Given the description of an element on the screen output the (x, y) to click on. 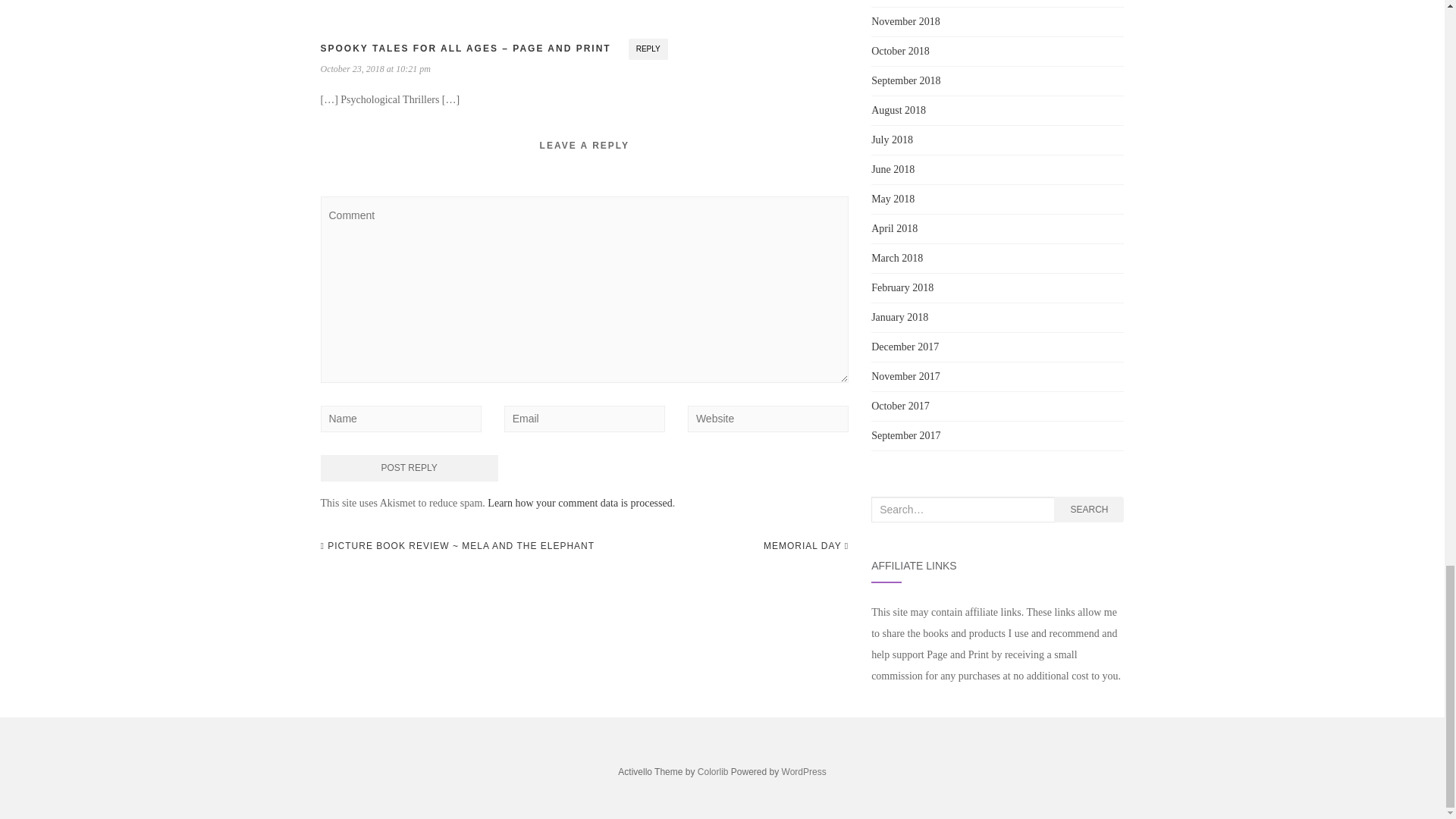
Post Reply (408, 468)
Search for: (962, 509)
October 23, 2018 at 10:21 pm (374, 68)
MEMORIAL DAY (805, 546)
REPLY (648, 48)
Post Reply (408, 468)
Learn how your comment data is processed (579, 502)
